Given the description of an element on the screen output the (x, y) to click on. 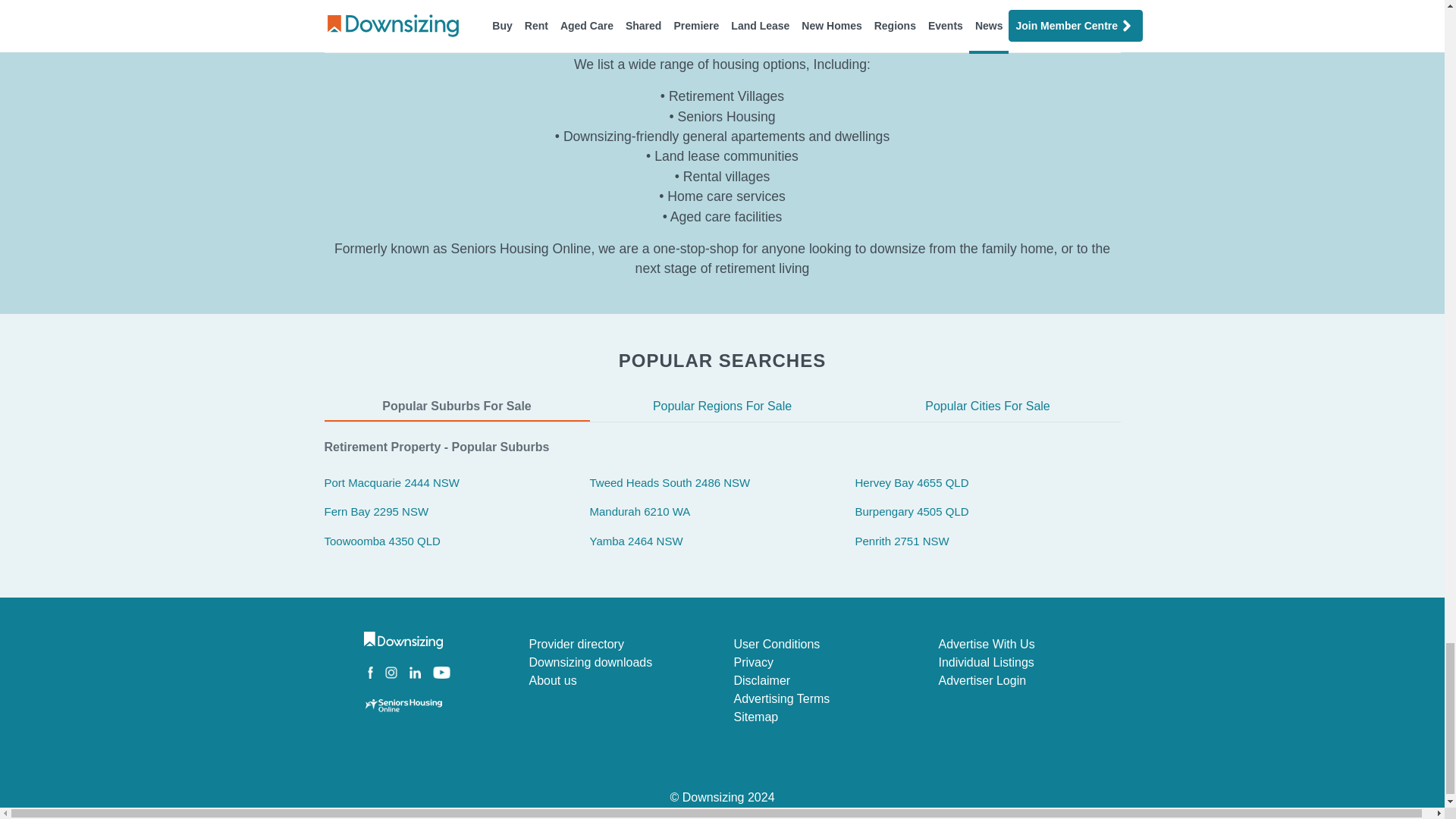
Downsizing (721, 797)
